Given the description of an element on the screen output the (x, y) to click on. 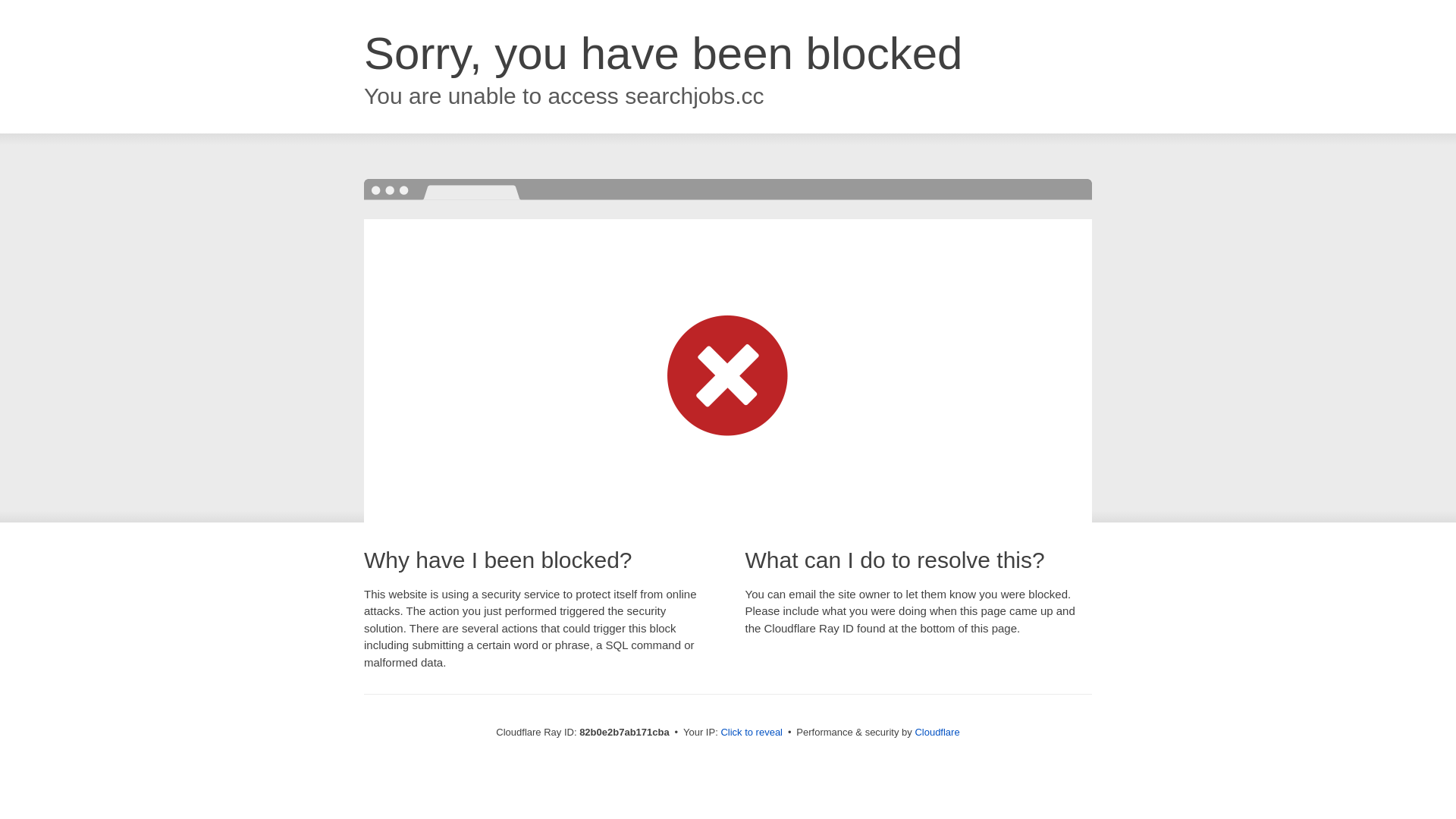
Click to reveal Element type: text (751, 732)
Cloudflare Element type: text (936, 731)
